Given the description of an element on the screen output the (x, y) to click on. 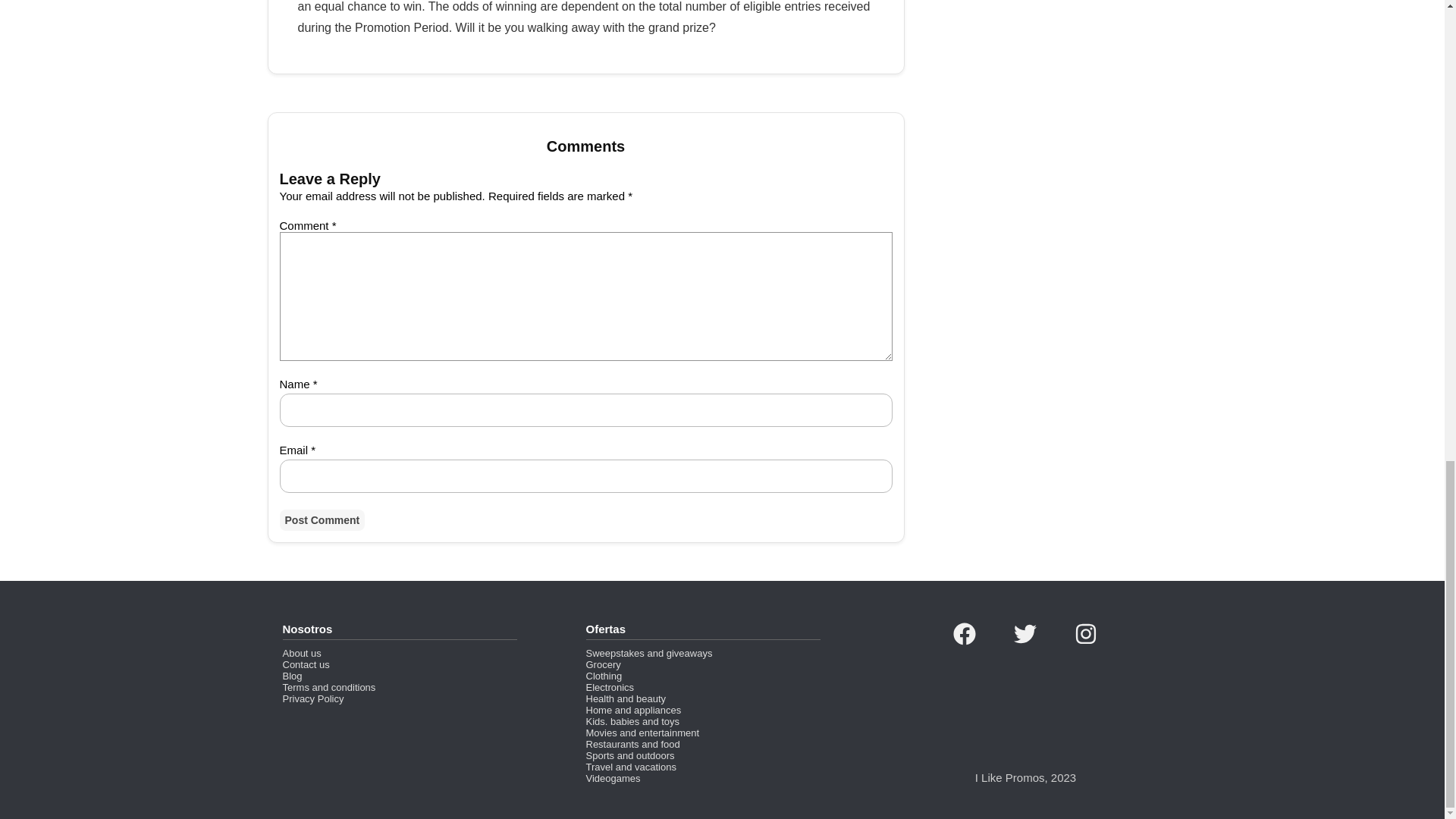
Post Comment (322, 519)
